Given the description of an element on the screen output the (x, y) to click on. 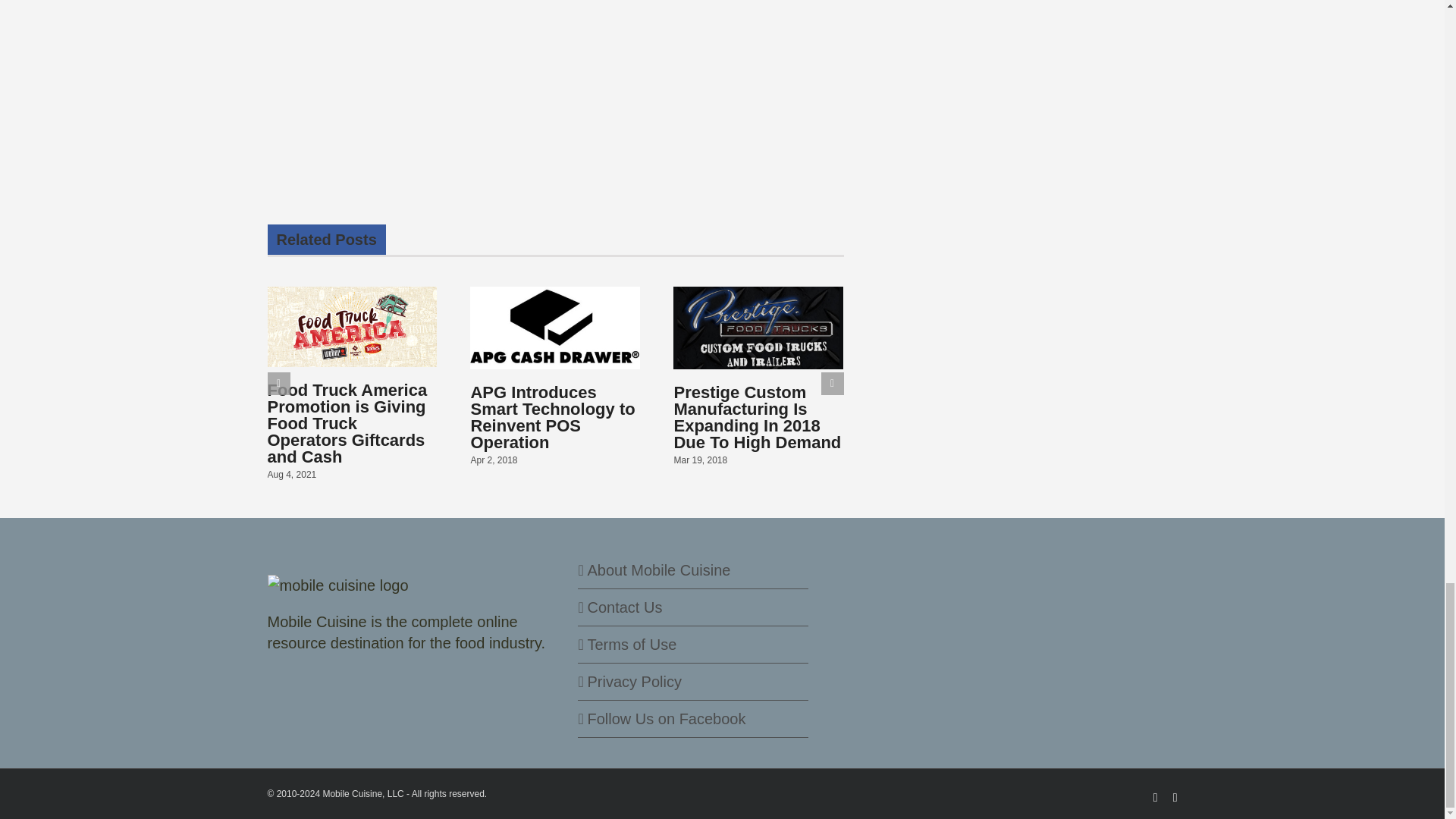
APG Introduces Smart Technology to  Reinvent POS Operation (552, 417)
